Given the description of an element on the screen output the (x, y) to click on. 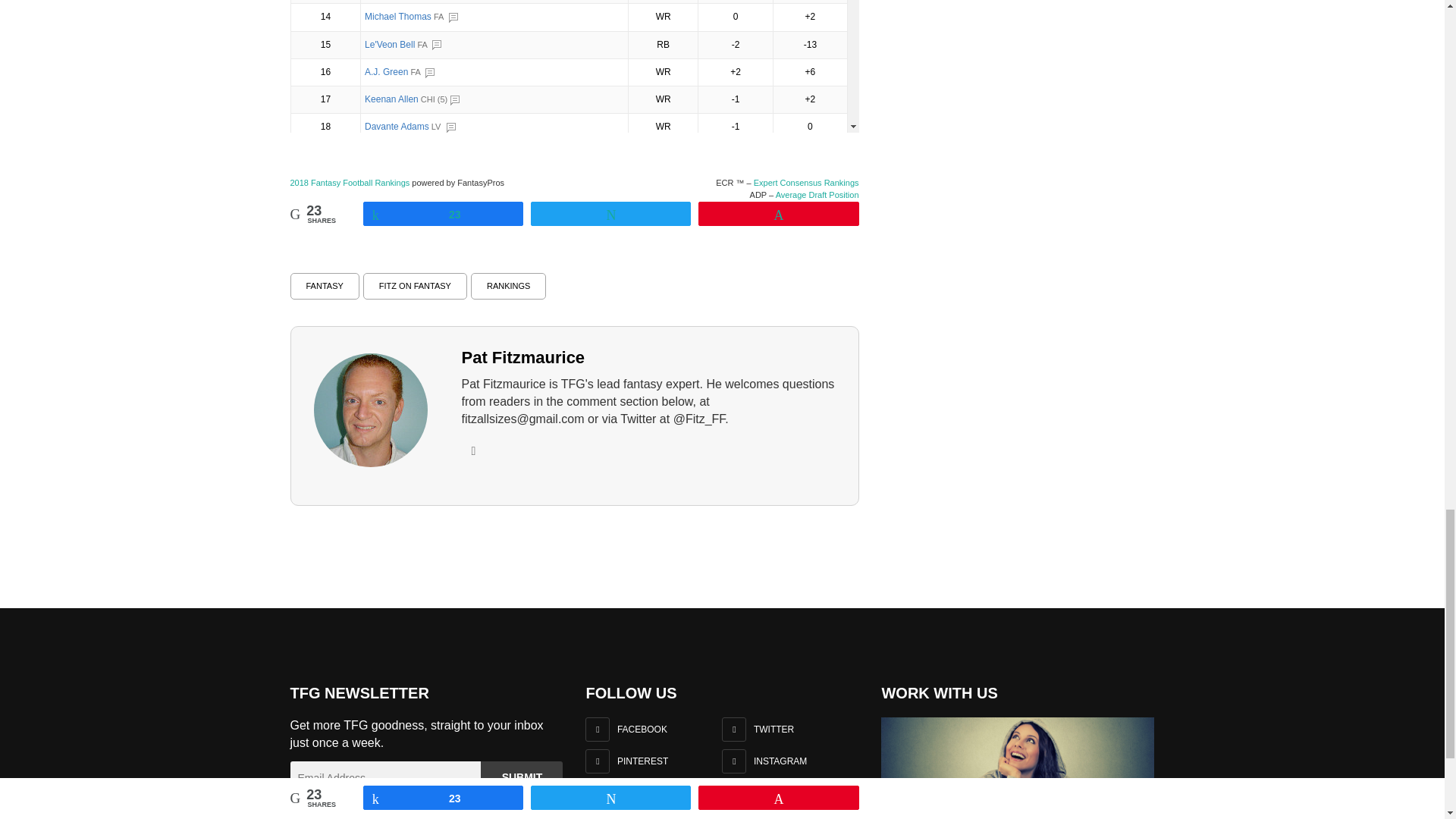
Work With The Football Girl (1017, 761)
